Given the description of an element on the screen output the (x, y) to click on. 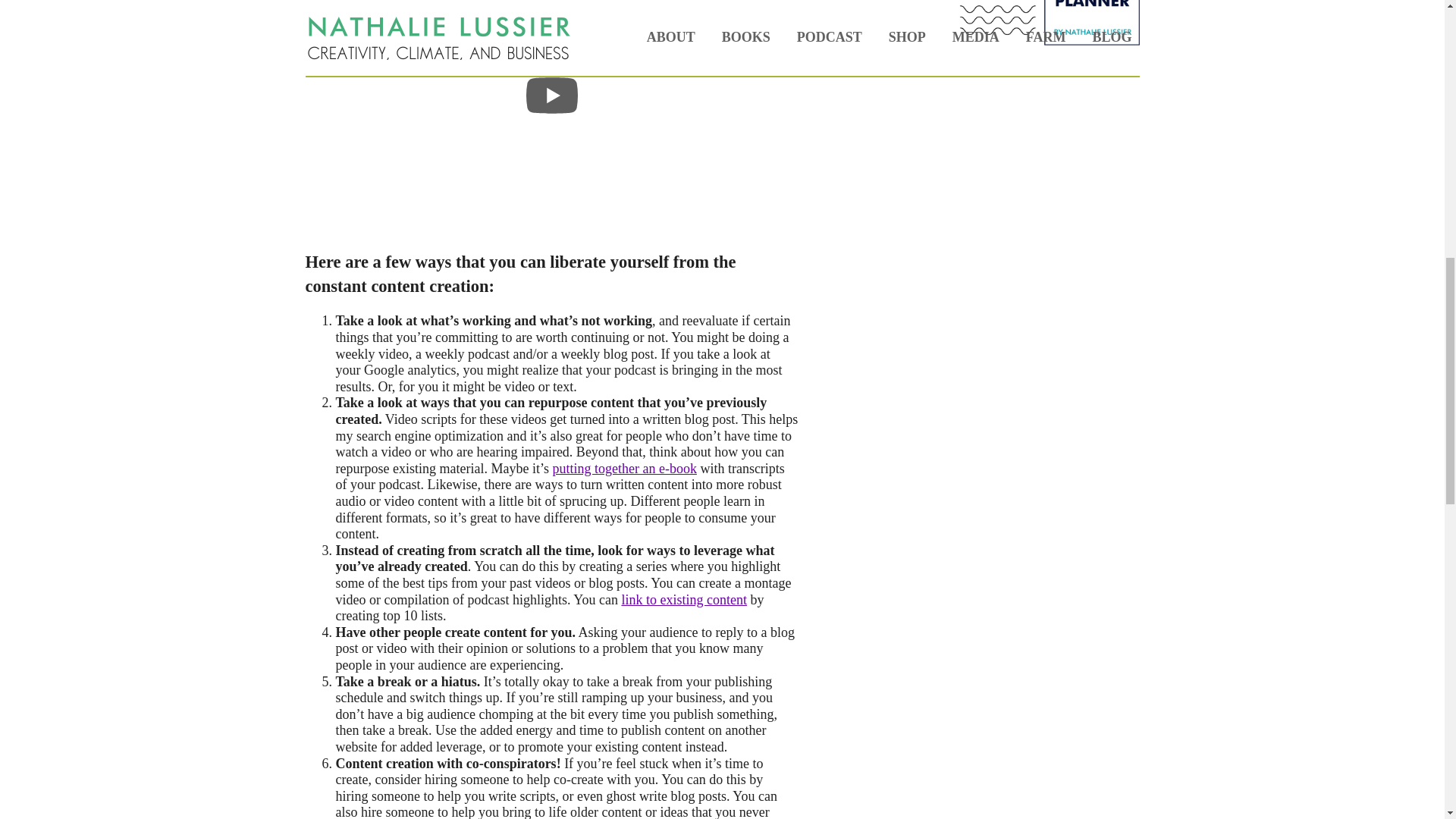
link to existing content (683, 599)
putting together an e-book (623, 468)
